Given the description of an element on the screen output the (x, y) to click on. 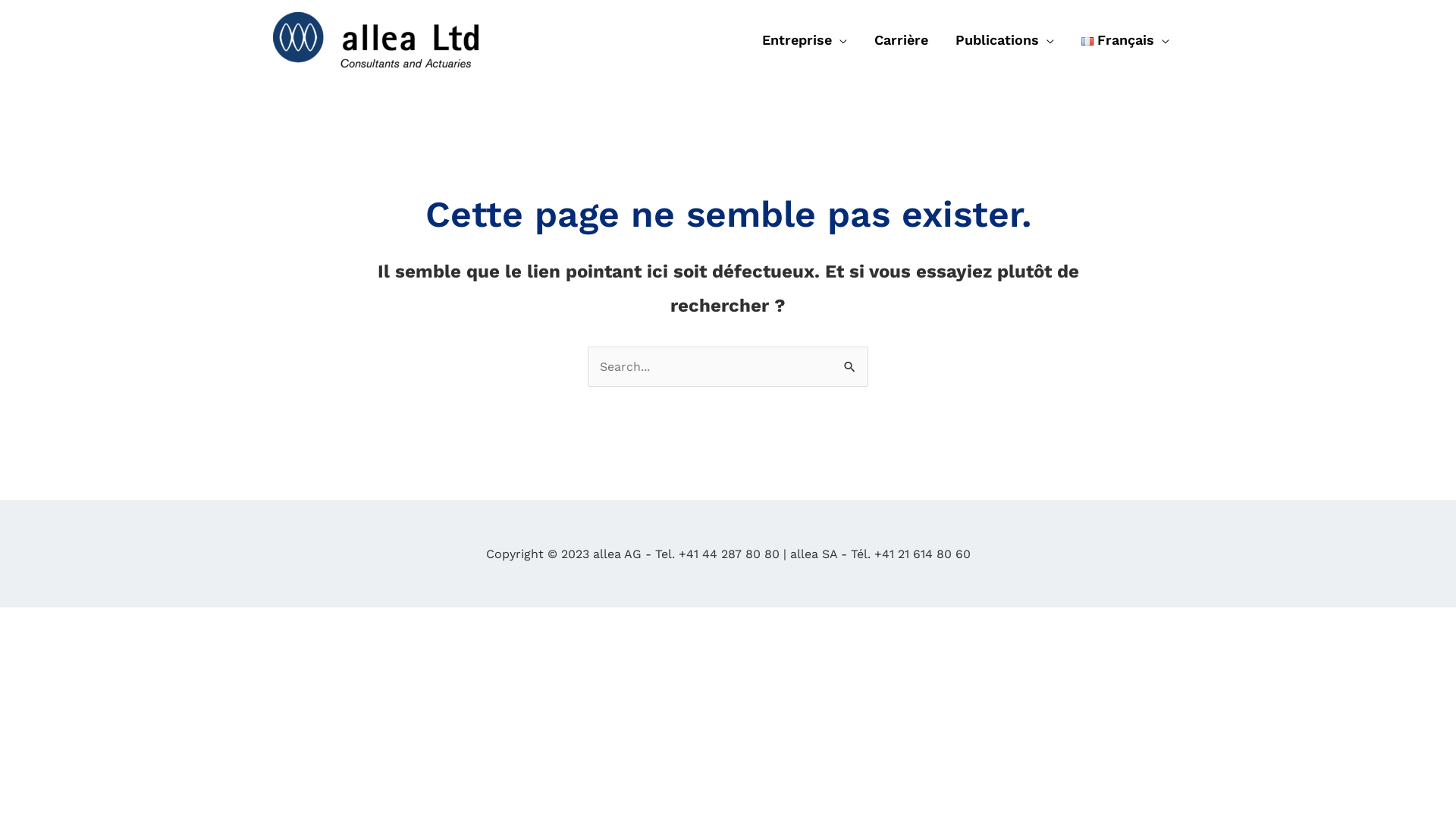
Publications Element type: text (1004, 39)
Rechercher Element type: text (851, 361)
Entreprise Element type: text (804, 39)
